Given the description of an element on the screen output the (x, y) to click on. 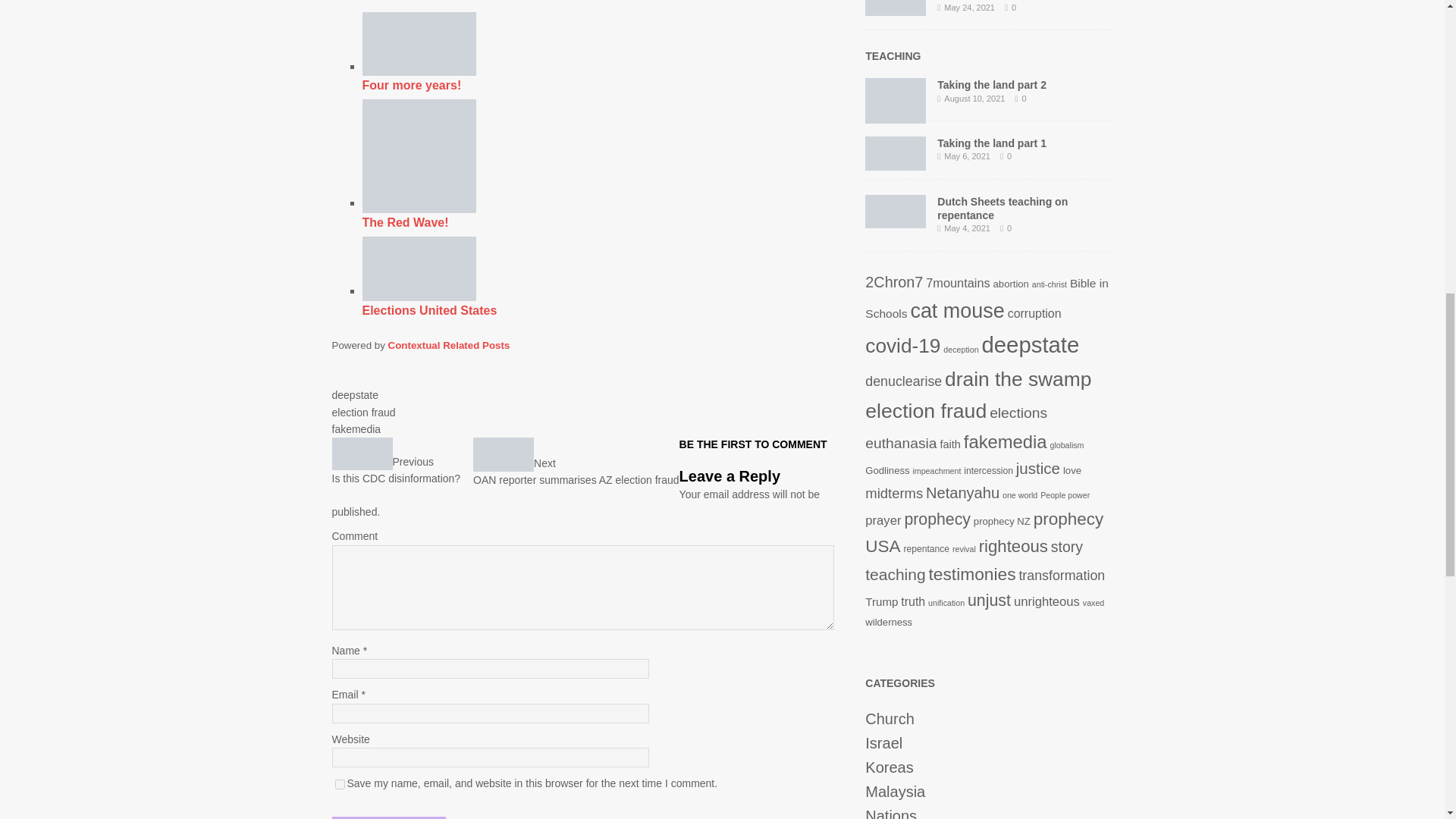
fakemedia (356, 428)
Post Comment (388, 817)
Elections United States (419, 268)
Elections United States (603, 276)
Four more years! (603, 51)
election fraud (363, 412)
Post Comment (388, 817)
The Red Wave! (419, 155)
deepstate (396, 471)
The Red Wave! (354, 395)
Contextual Related Posts (603, 164)
yes (449, 345)
Four more years! (339, 784)
